Given the description of an element on the screen output the (x, y) to click on. 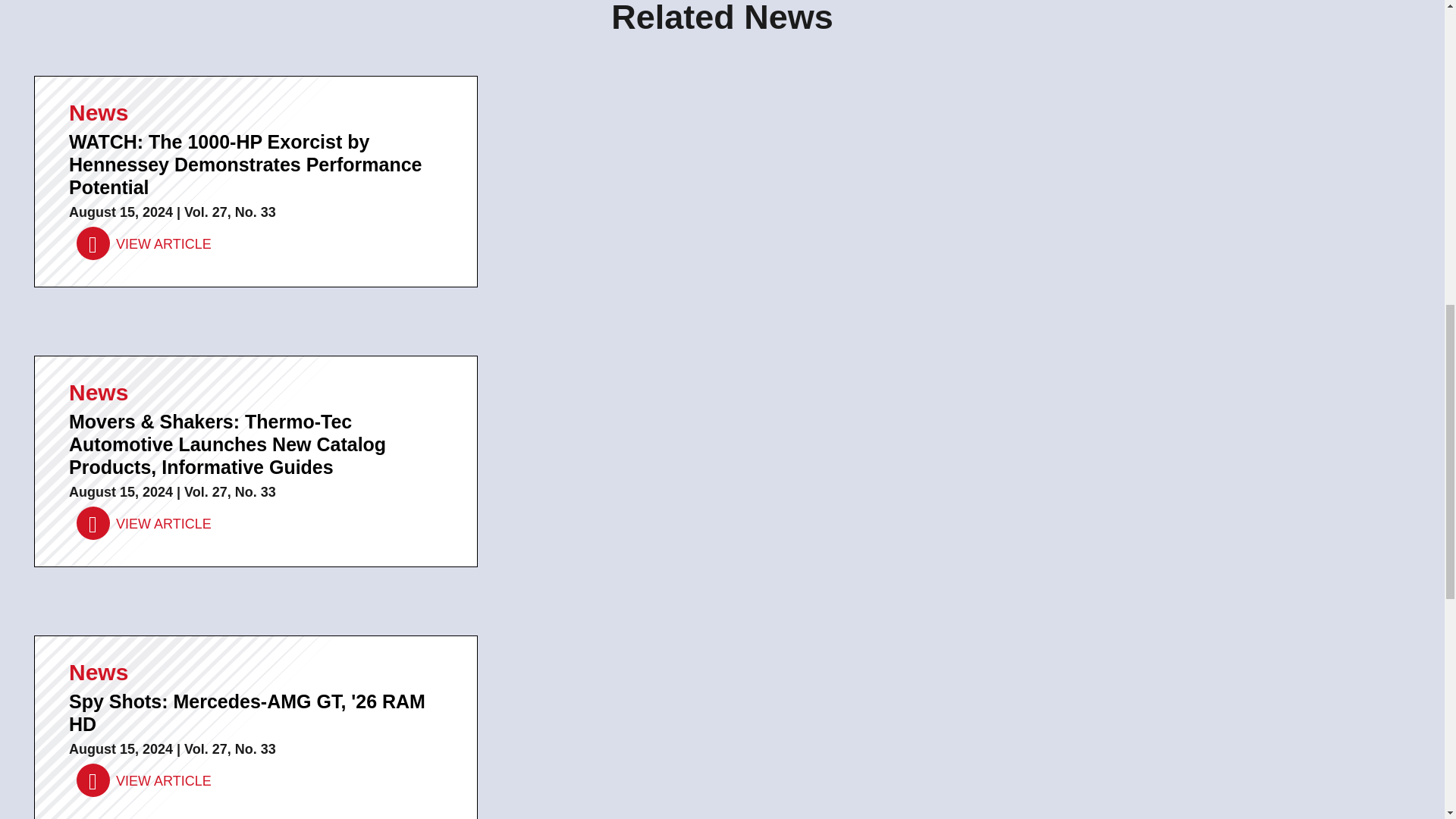
VIEW ARTICLE (143, 780)
VIEW ARTICLE (143, 523)
Spy Shots: Mercedes-AMG GT, '26 RAM HD (143, 780)
VIEW ARTICLE (143, 244)
